Given the description of an element on the screen output the (x, y) to click on. 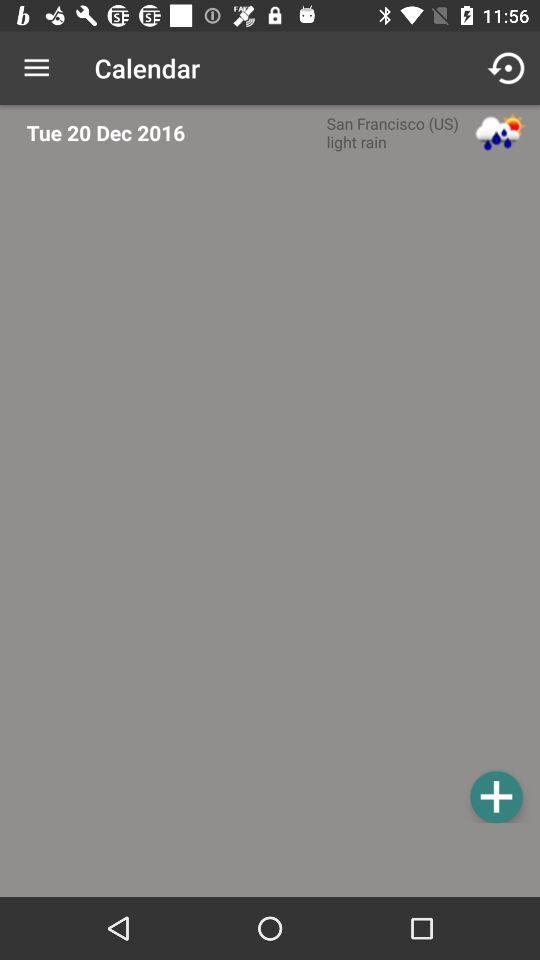
add the event (496, 796)
